Given the description of an element on the screen output the (x, y) to click on. 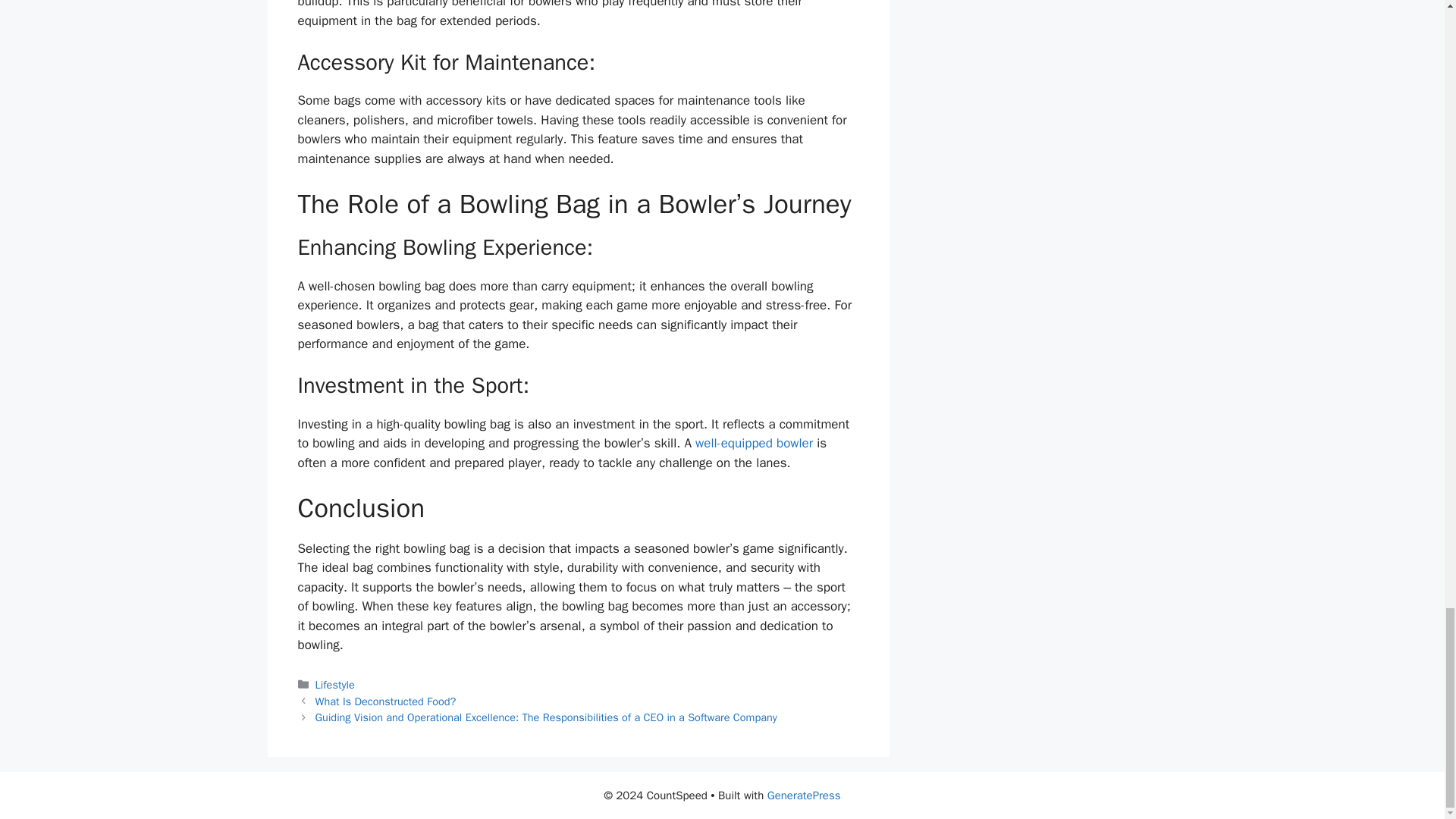
Lifestyle (335, 684)
What Is Deconstructed Food? (386, 701)
well-equipped bowler (753, 442)
